Given the description of an element on the screen output the (x, y) to click on. 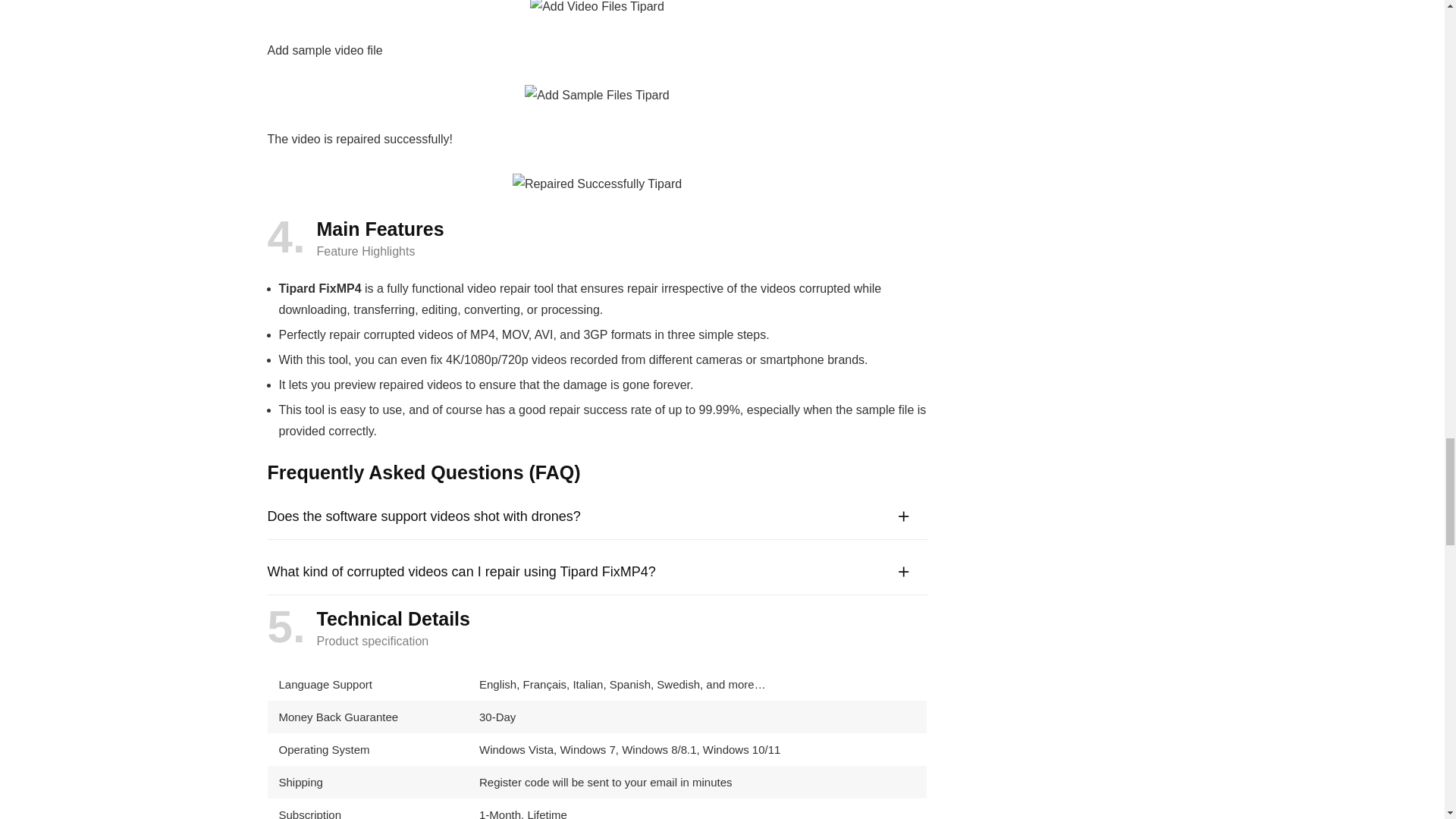
Add Video Files Tipard (596, 8)
Repaired Successfully Tipard (596, 183)
Add Sample Files Tipard (596, 95)
